Given the description of an element on the screen output the (x, y) to click on. 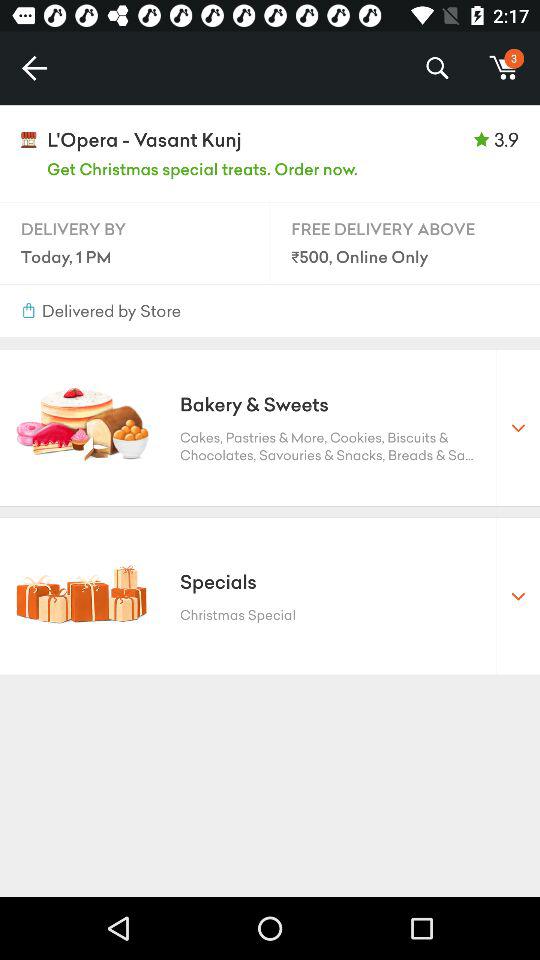
jump to % icon (436, 67)
